Given the description of an element on the screen output the (x, y) to click on. 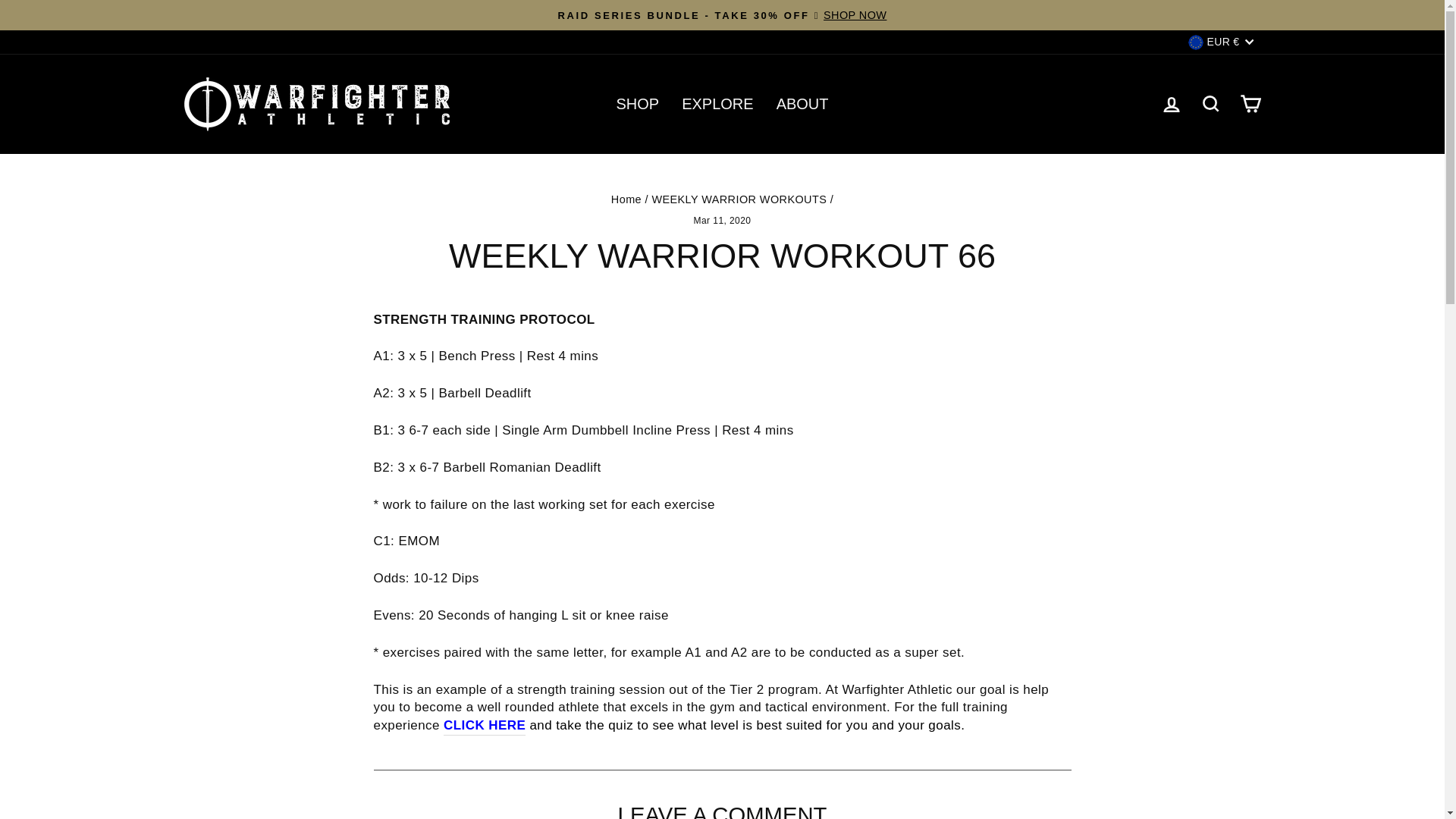
Back to the frontpage (626, 199)
